Given the description of an element on the screen output the (x, y) to click on. 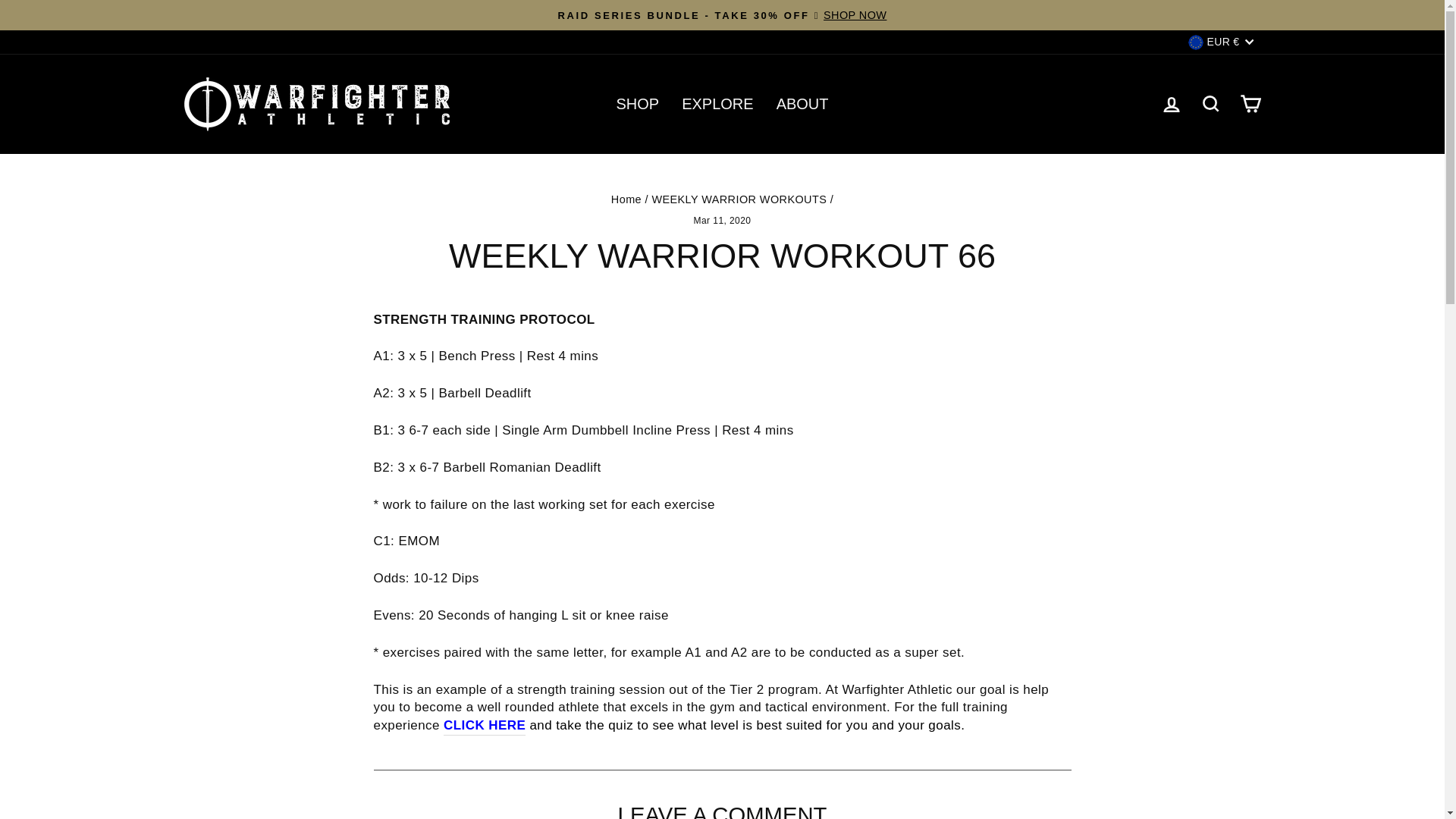
Back to the frontpage (626, 199)
